Given the description of an element on the screen output the (x, y) to click on. 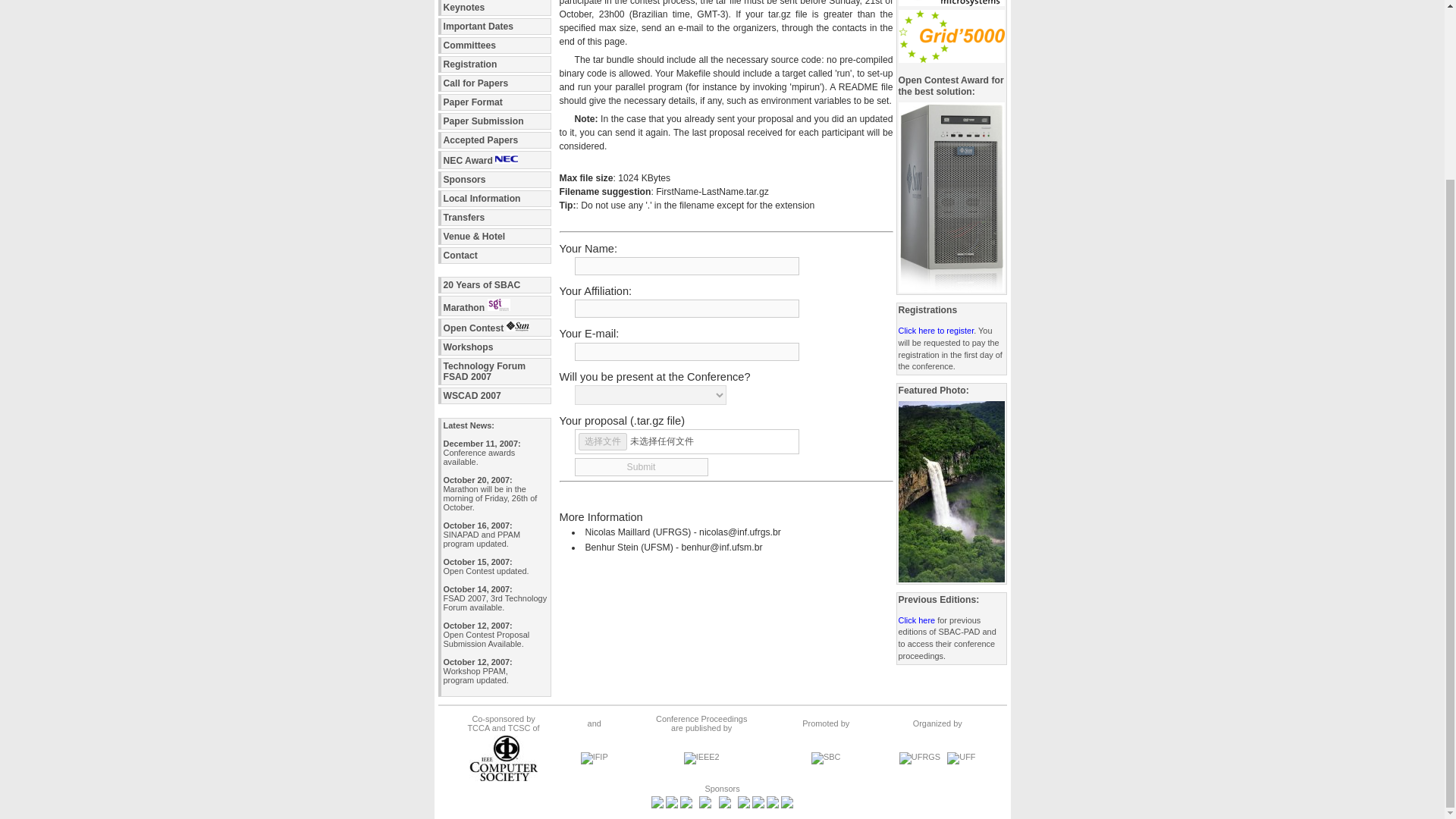
Contact (494, 255)
Sponsors (494, 179)
Marathon (494, 305)
Open Contest (494, 327)
Committees (494, 45)
Keynotes (494, 7)
Submit (494, 370)
Paper Submission (641, 466)
Accepted Papers (494, 121)
Local Information (494, 139)
NEC Award (494, 198)
Workshops (494, 159)
Transfers (494, 347)
Call for Papers (494, 217)
